Given the description of an element on the screen output the (x, y) to click on. 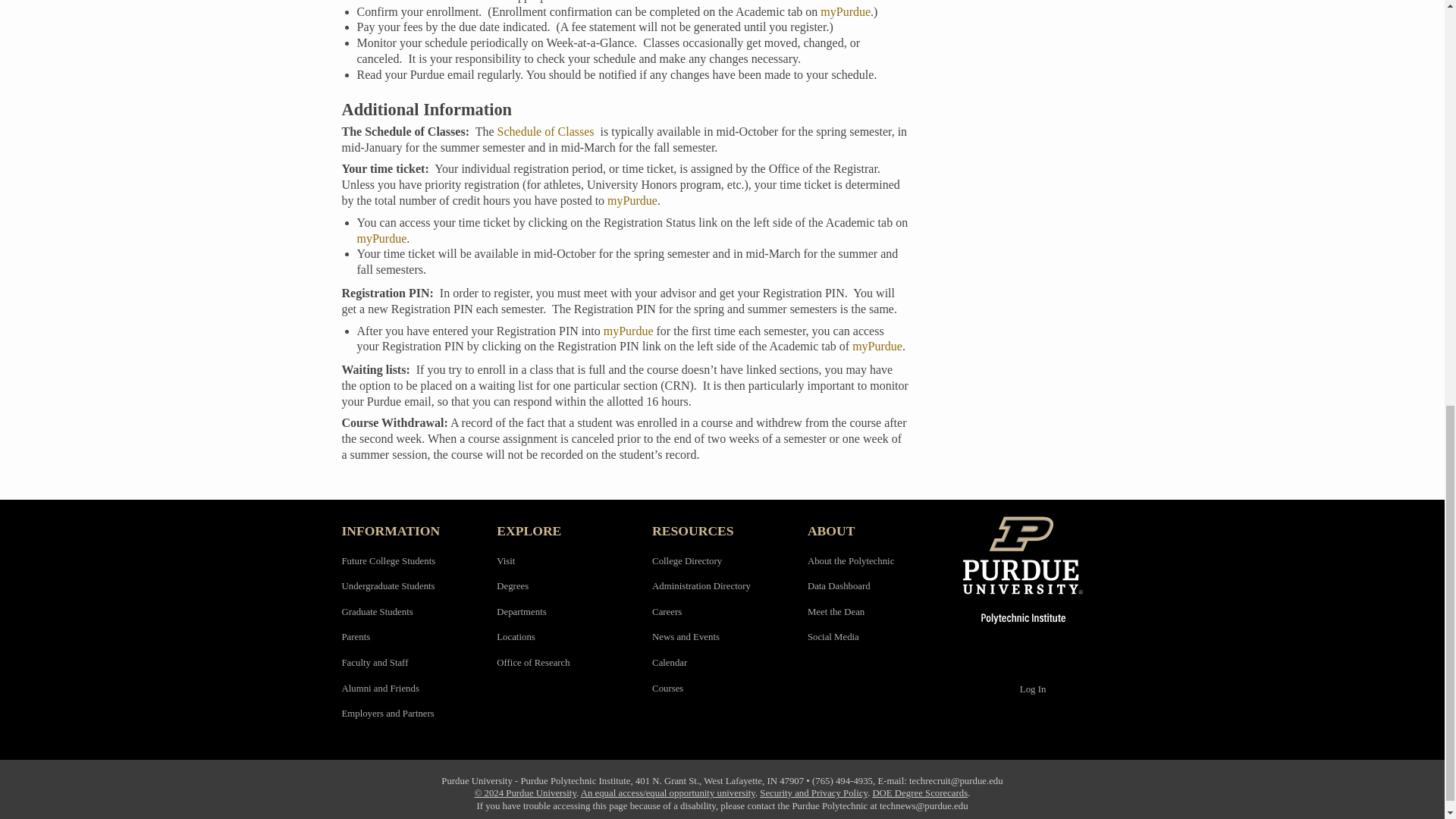
Purdue Polytechnic Institute (1032, 570)
